Given the description of an element on the screen output the (x, y) to click on. 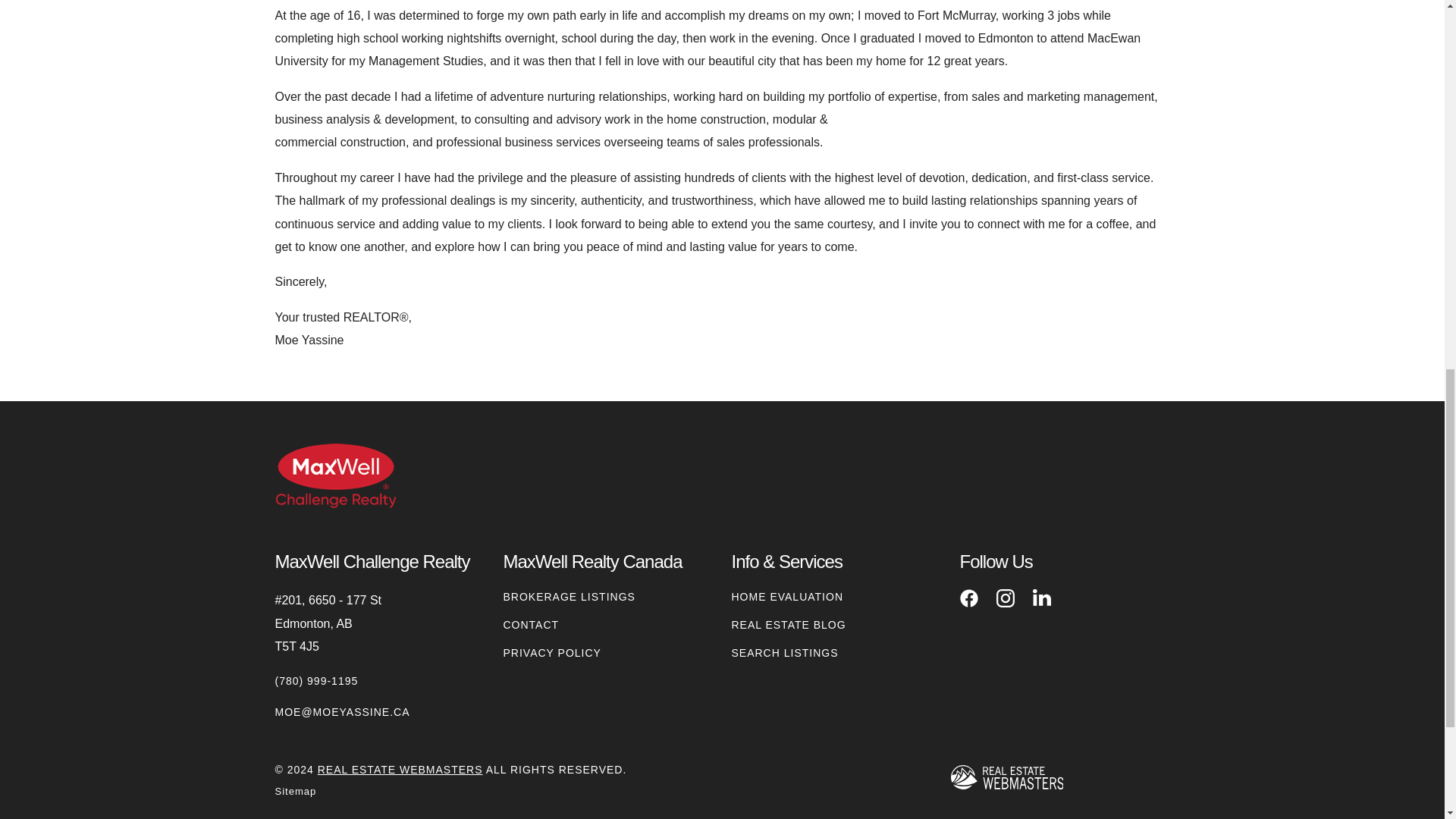
LINKEDIN FOR (1041, 597)
INSTAGRAM FOR (1004, 597)
FACEBOOK FOR (968, 597)
